Given the description of an element on the screen output the (x, y) to click on. 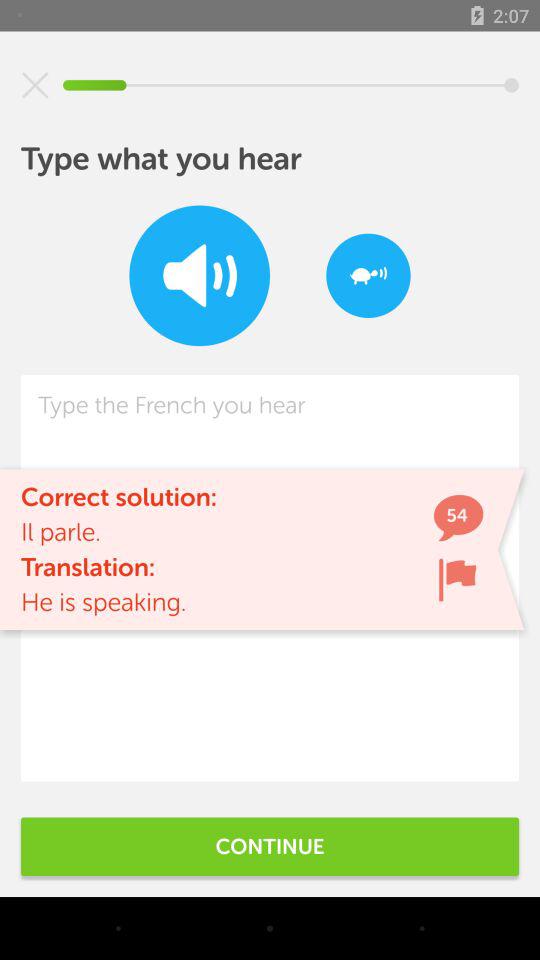
click continue item (270, 846)
